Given the description of an element on the screen output the (x, y) to click on. 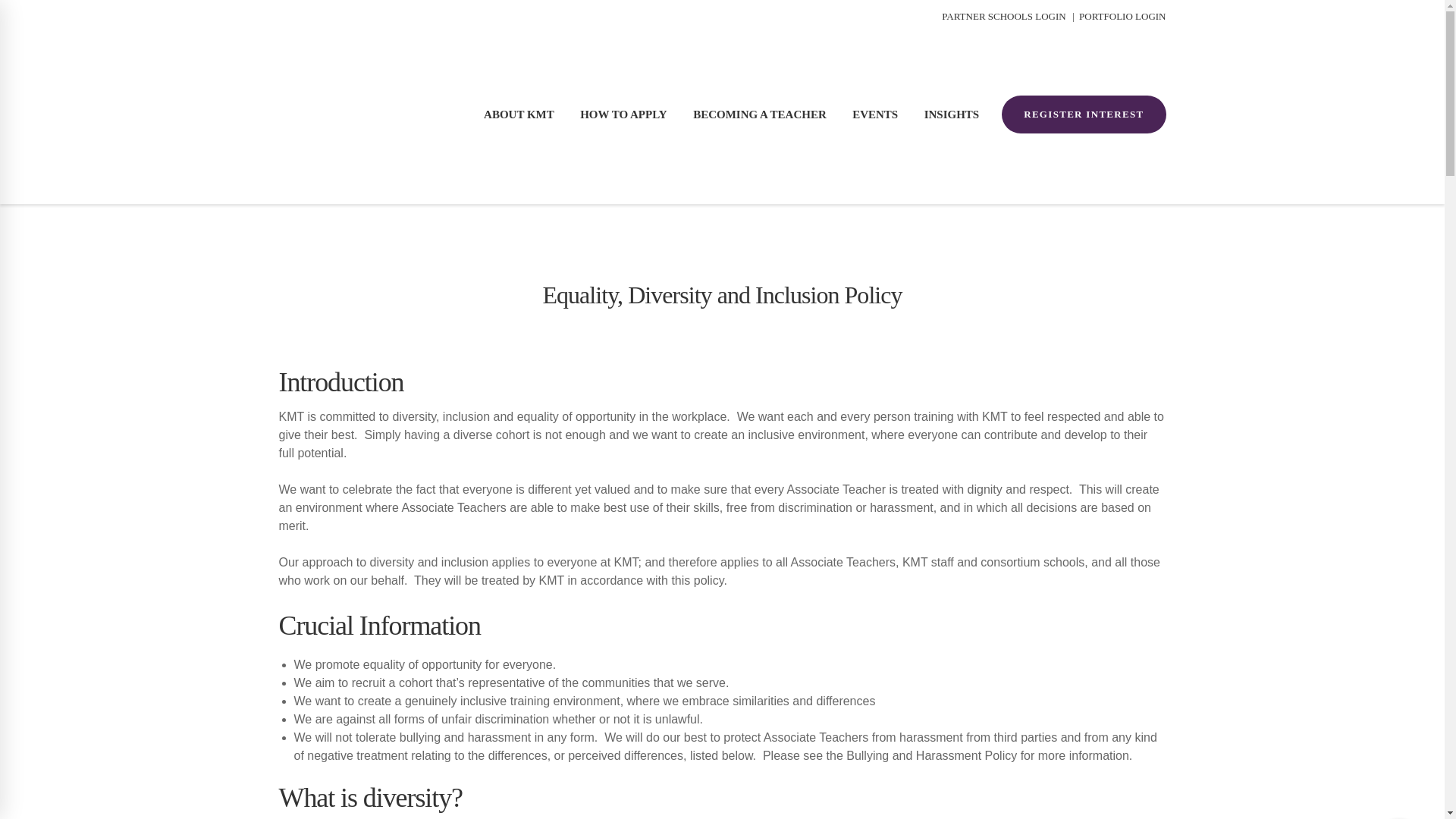
HOW TO APPLY (627, 114)
REGISTER INTEREST (1083, 114)
BECOMING A TEACHER (763, 114)
EVENTS (878, 114)
PARTNER SCHOOLS LOGIN (1001, 12)
INSIGHTS (955, 114)
ABOUT KMT (522, 114)
